Given the description of an element on the screen output the (x, y) to click on. 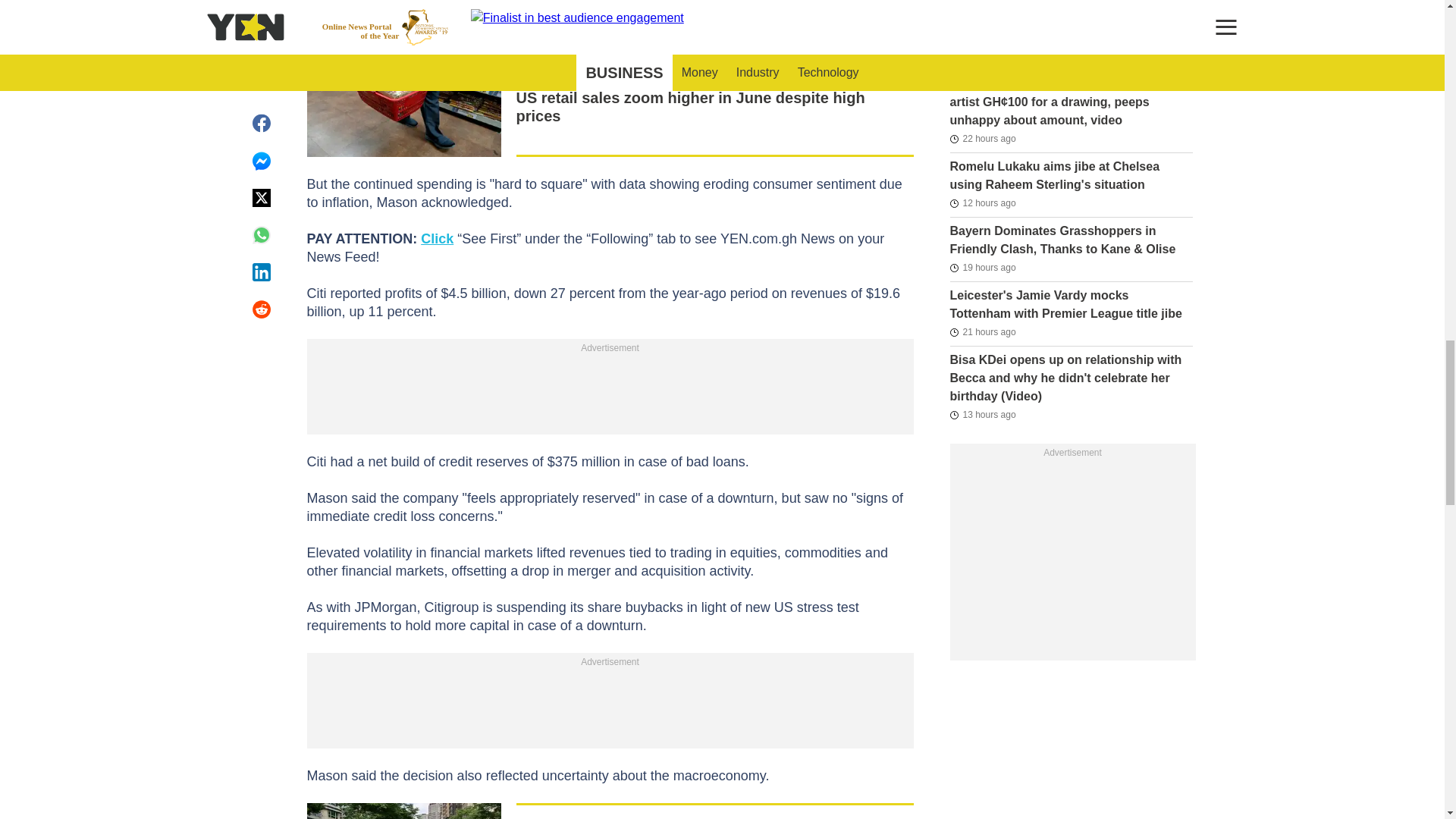
2024-08-20T18:15:12Z (981, 203)
2024-08-20T08:16:44Z (981, 138)
2024-08-20T09:49:38Z (981, 331)
2024-08-20T11:31:04Z (981, 267)
2023-06-01T19:40:17Z (977, 11)
2024-08-20T17:32:31Z (981, 414)
